Given the description of an element on the screen output the (x, y) to click on. 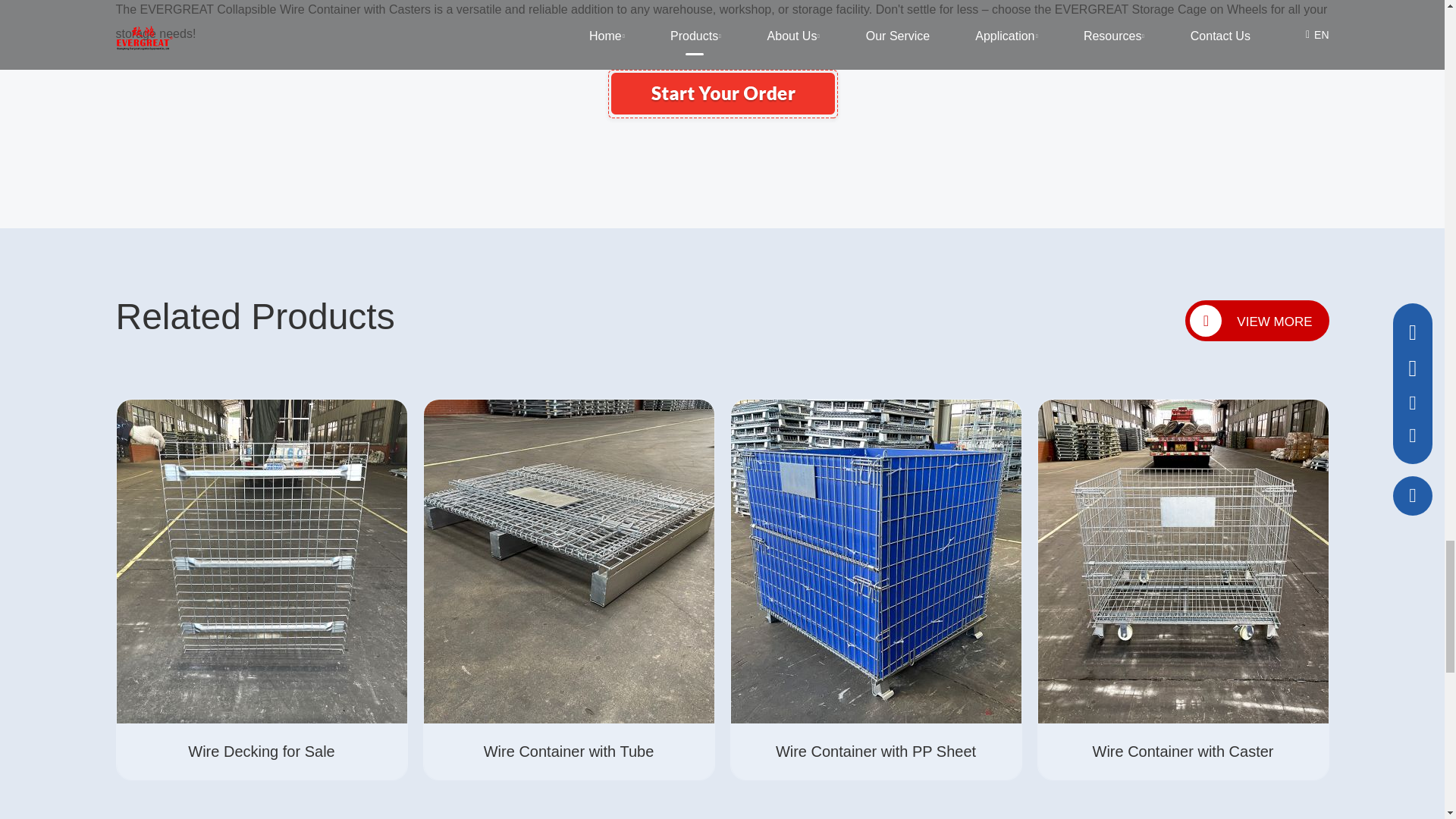
Wire Decking for Sale (261, 561)
Wire Container with Caster (721, 92)
